Given the description of an element on the screen output the (x, y) to click on. 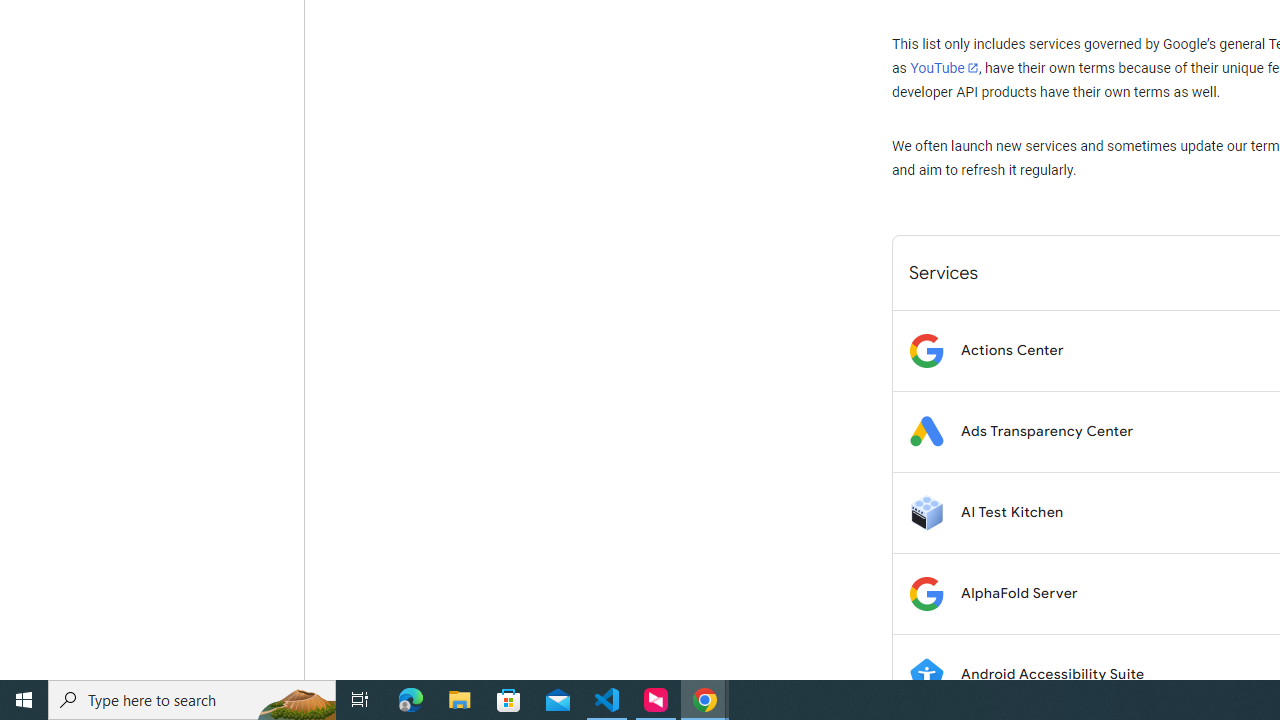
YouTube (944, 68)
Logo for Actions Center (926, 349)
Logo for AI Test Kitchen (926, 512)
Logo for Android Accessibility Suite (926, 673)
Logo for Ads Transparency Center (926, 431)
Logo for AlphaFold Server (926, 593)
